Given the description of an element on the screen output the (x, y) to click on. 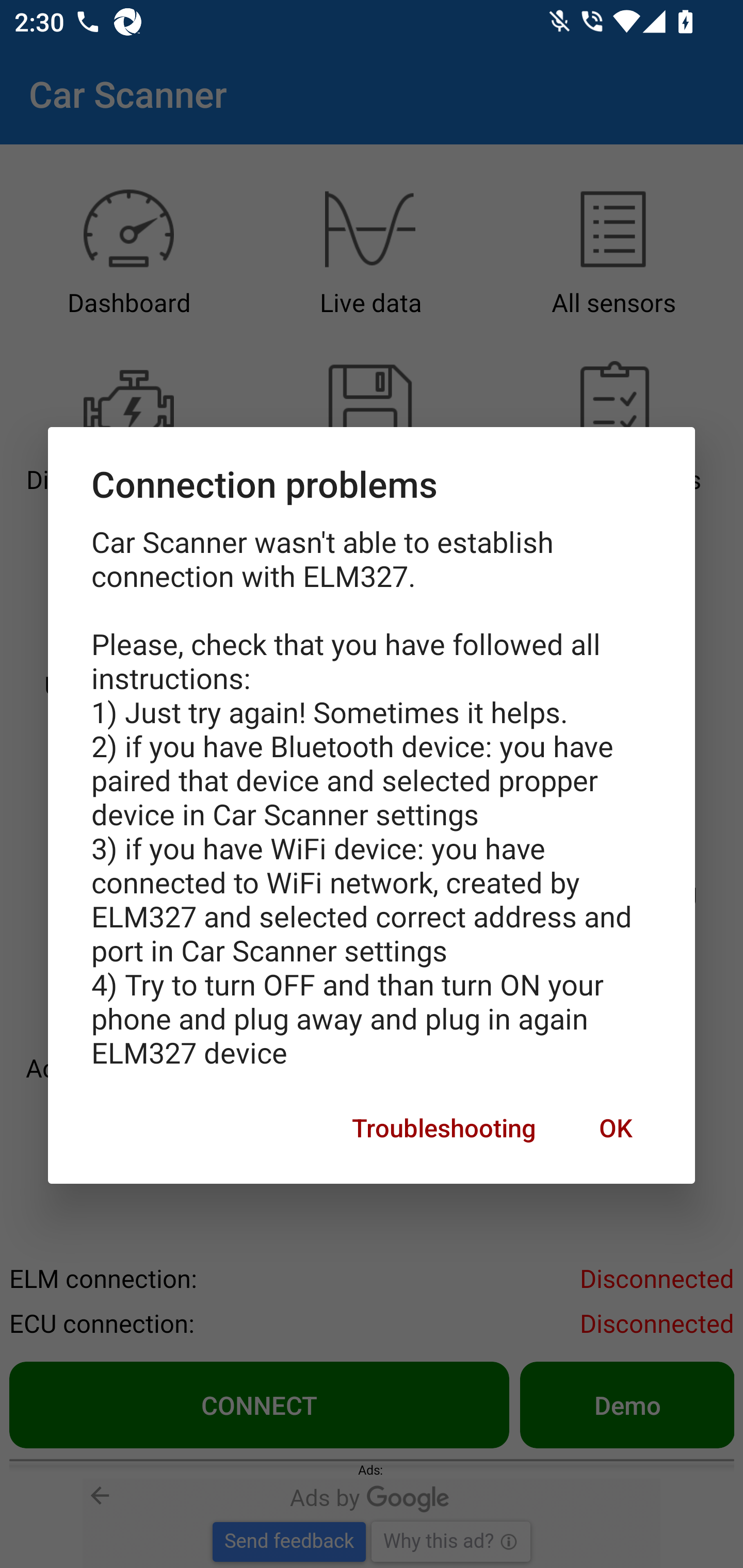
Troubleshooting (443, 1127)
OK (615, 1127)
